Given the description of an element on the screen output the (x, y) to click on. 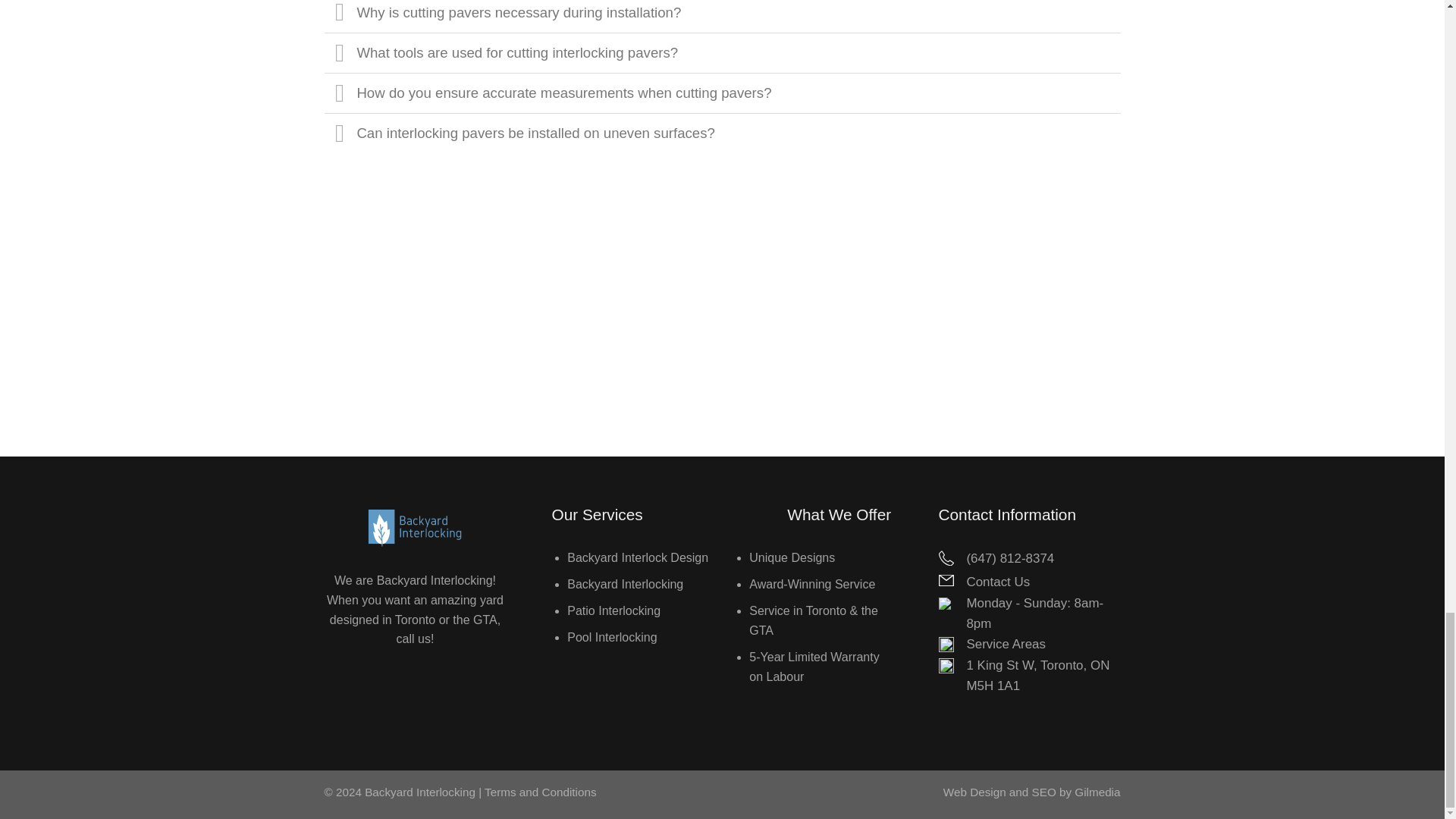
What tools are used for cutting interlocking pavers? (722, 52)
Patio Interlocking (614, 610)
How do you ensure accurate measurements when cutting pavers? (722, 92)
Pool Interlocking (611, 636)
Why is cutting pavers necessary during installation? (722, 15)
Can interlocking pavers be installed on uneven surfaces? (722, 133)
